Given the description of an element on the screen output the (x, y) to click on. 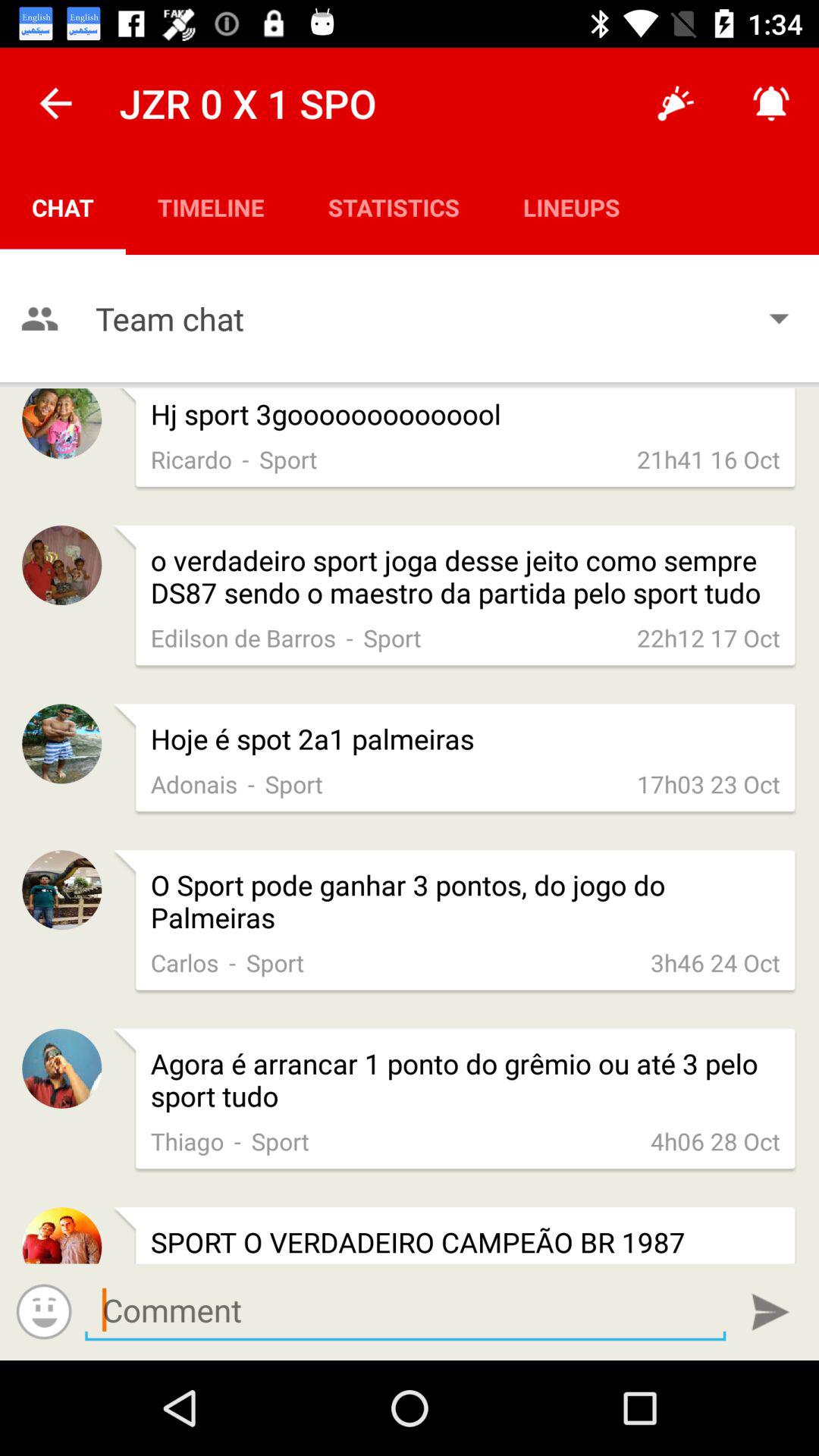
launch icon below the jzr 0 x item (210, 206)
